Given the description of an element on the screen output the (x, y) to click on. 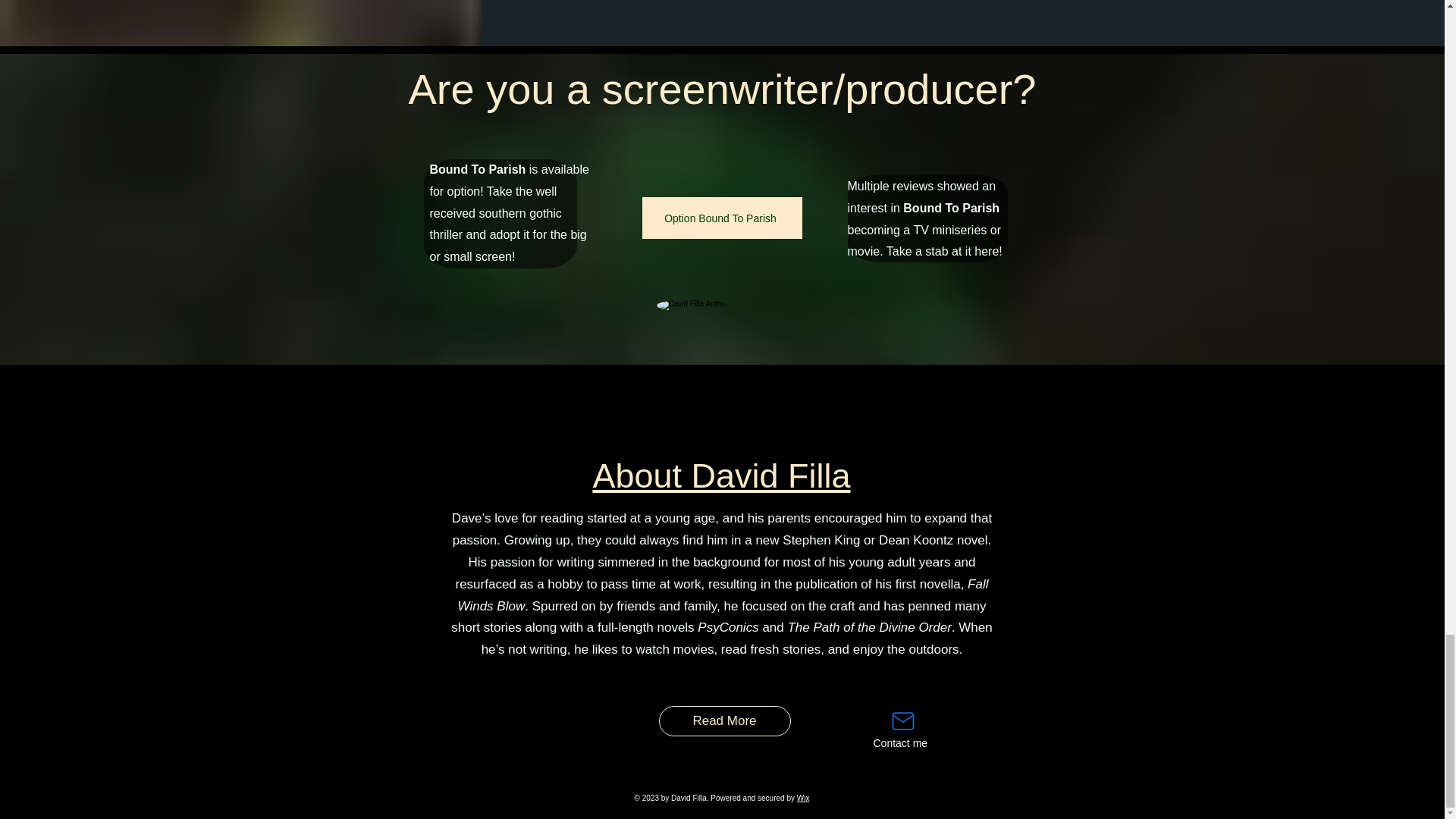
Option Bound To Parish (722, 218)
Read More (724, 720)
Wix (802, 797)
